Given the description of an element on the screen output the (x, y) to click on. 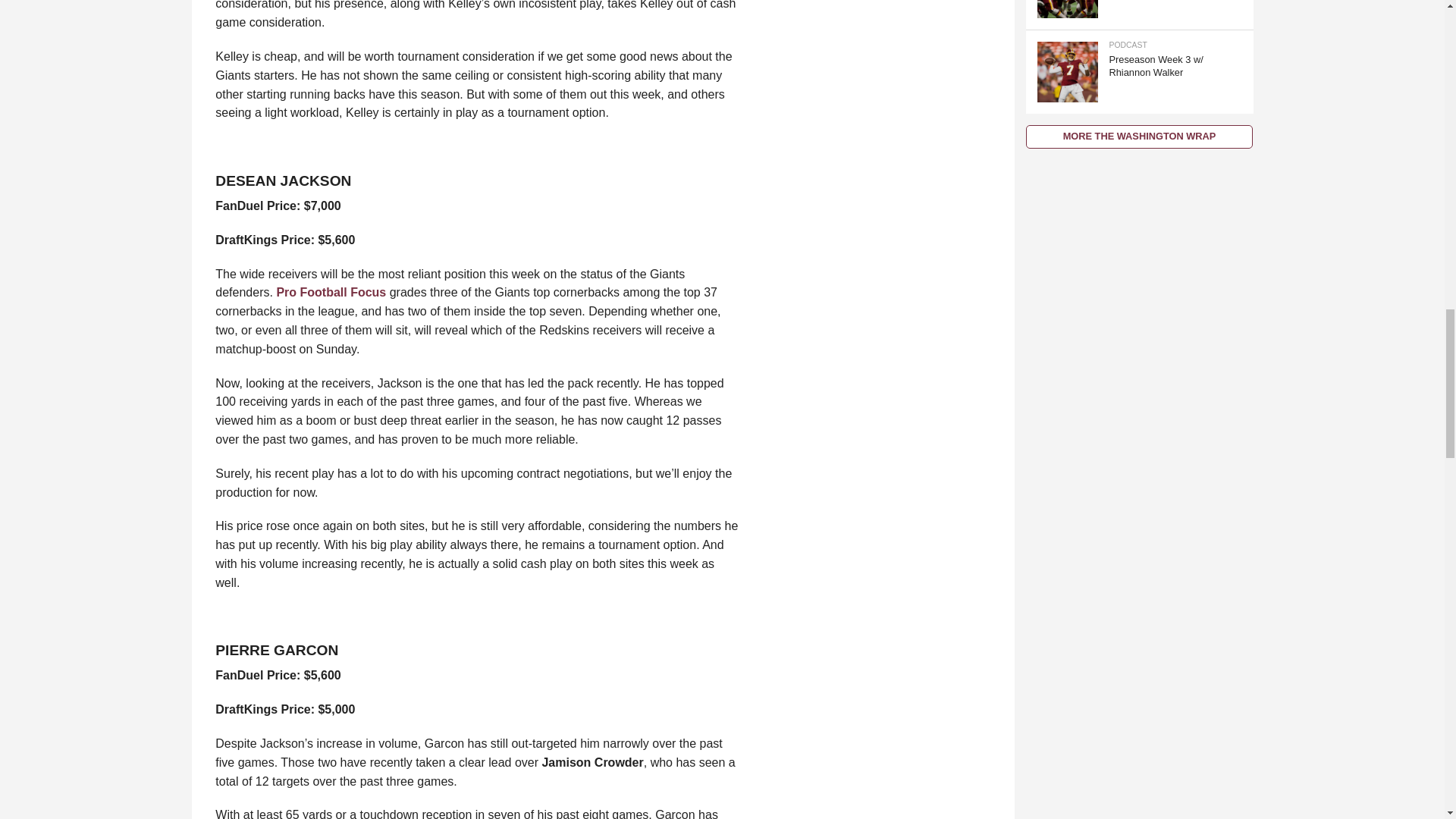
Pro Football Focus (330, 291)
